Given the description of an element on the screen output the (x, y) to click on. 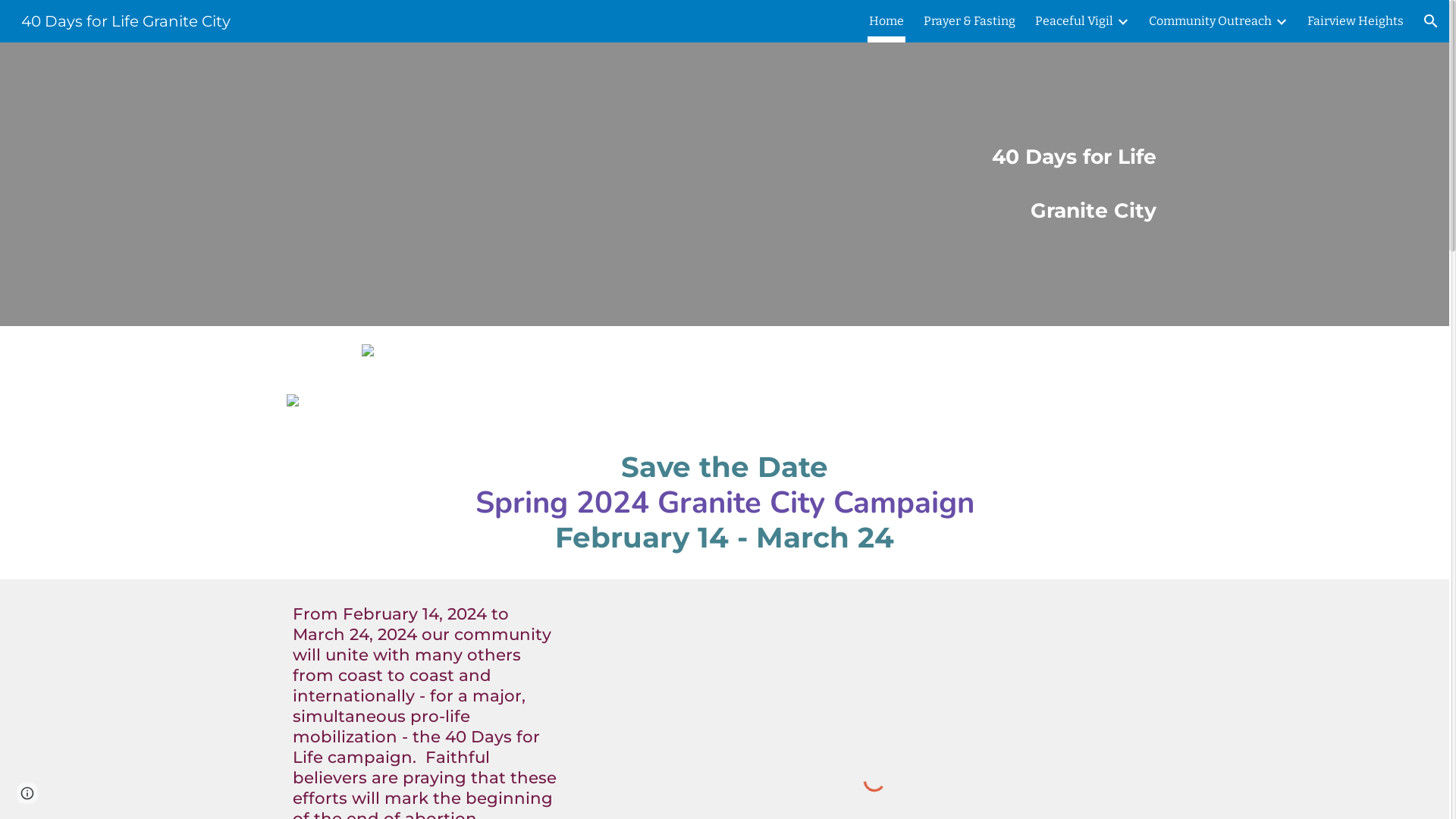
Prayer & Fasting Element type: text (969, 20)
40 Days for Life Granite City Element type: text (125, 19)
Peaceful Vigil Element type: text (1074, 20)
Community Outreach Element type: text (1209, 20)
Fairview Heights Element type: text (1355, 20)
Expand/Collapse Element type: hover (1122, 20)
Expand/Collapse Element type: hover (1280, 20)
Home Element type: text (886, 20)
